Given the description of an element on the screen output the (x, y) to click on. 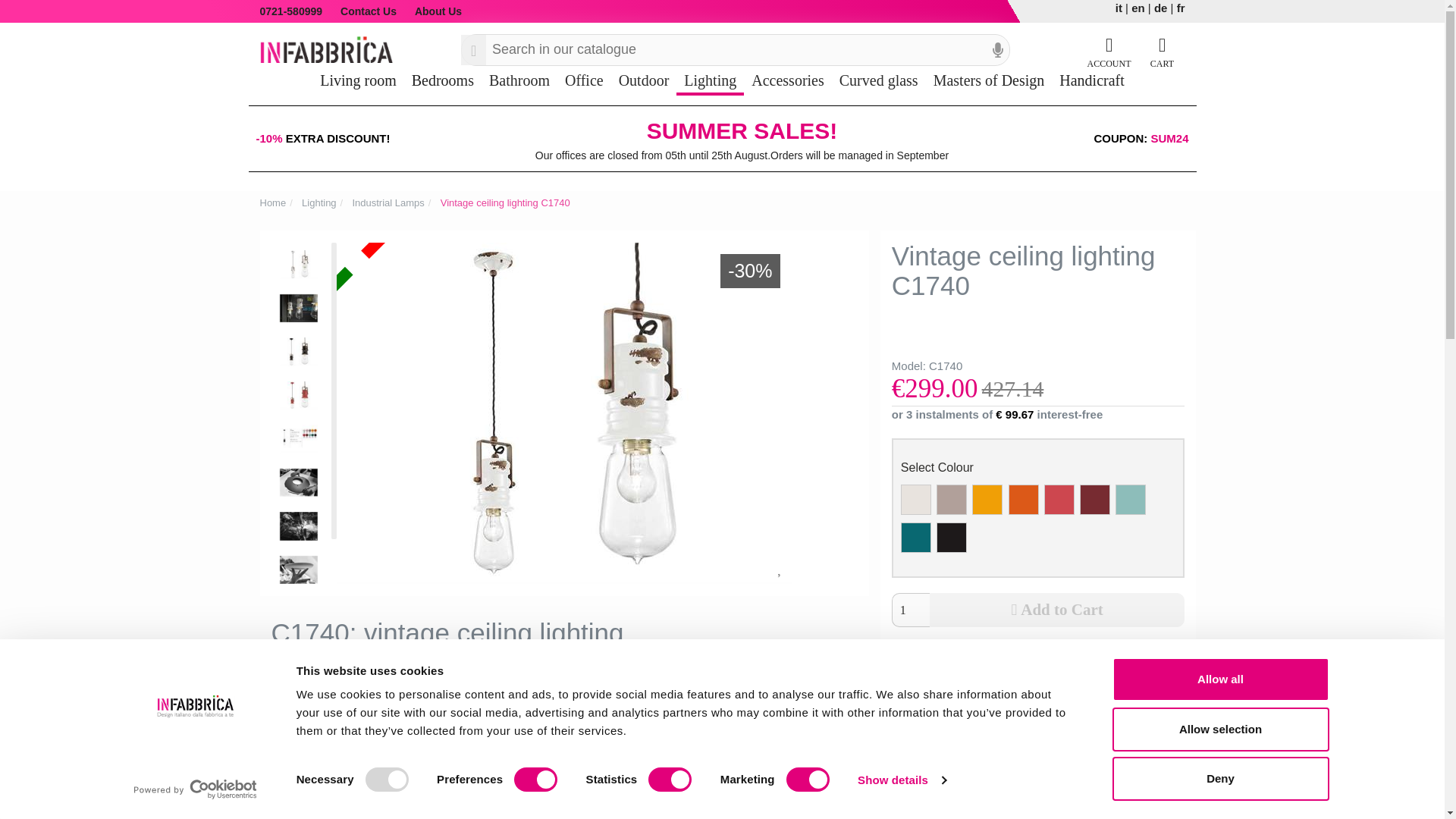
About Us (433, 11)
Allow all (1219, 679)
Allow selection (1219, 728)
Contact Us (368, 11)
Living room (358, 80)
Show details (900, 780)
0721-580999 (295, 11)
1 (910, 609)
Logo  (325, 49)
Deny (1219, 778)
